Given the description of an element on the screen output the (x, y) to click on. 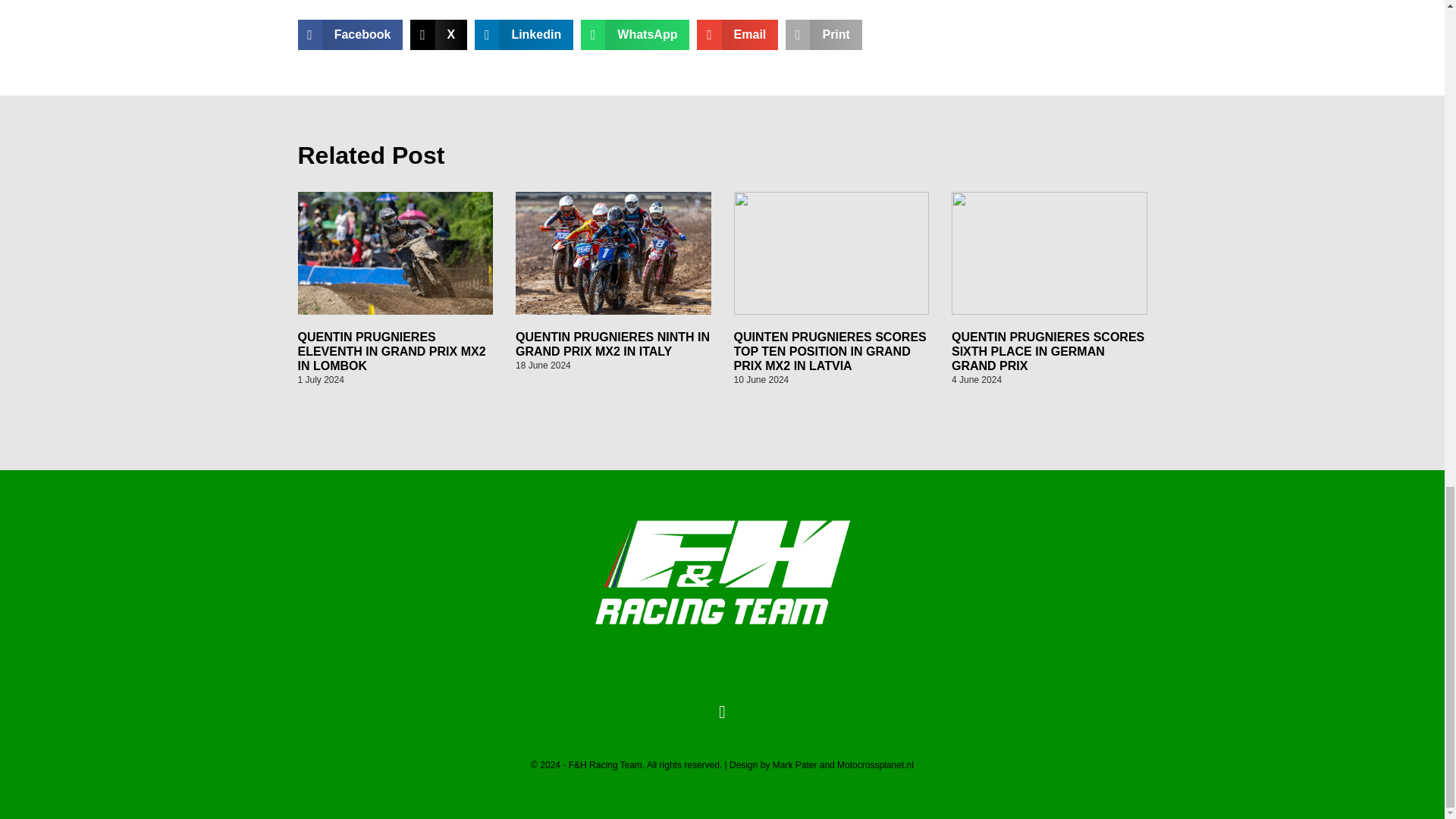
10 June 2024 (761, 379)
18 June 2024 (542, 365)
QUENTIN PRUGNIERES ELEVENTH IN GRAND PRIX MX2 IN LOMBOK (390, 351)
1 July 2024 (320, 379)
QUENTIN PRUGNIERES NINTH IN GRAND PRIX MX2 IN ITALY (612, 343)
